Given the description of an element on the screen output the (x, y) to click on. 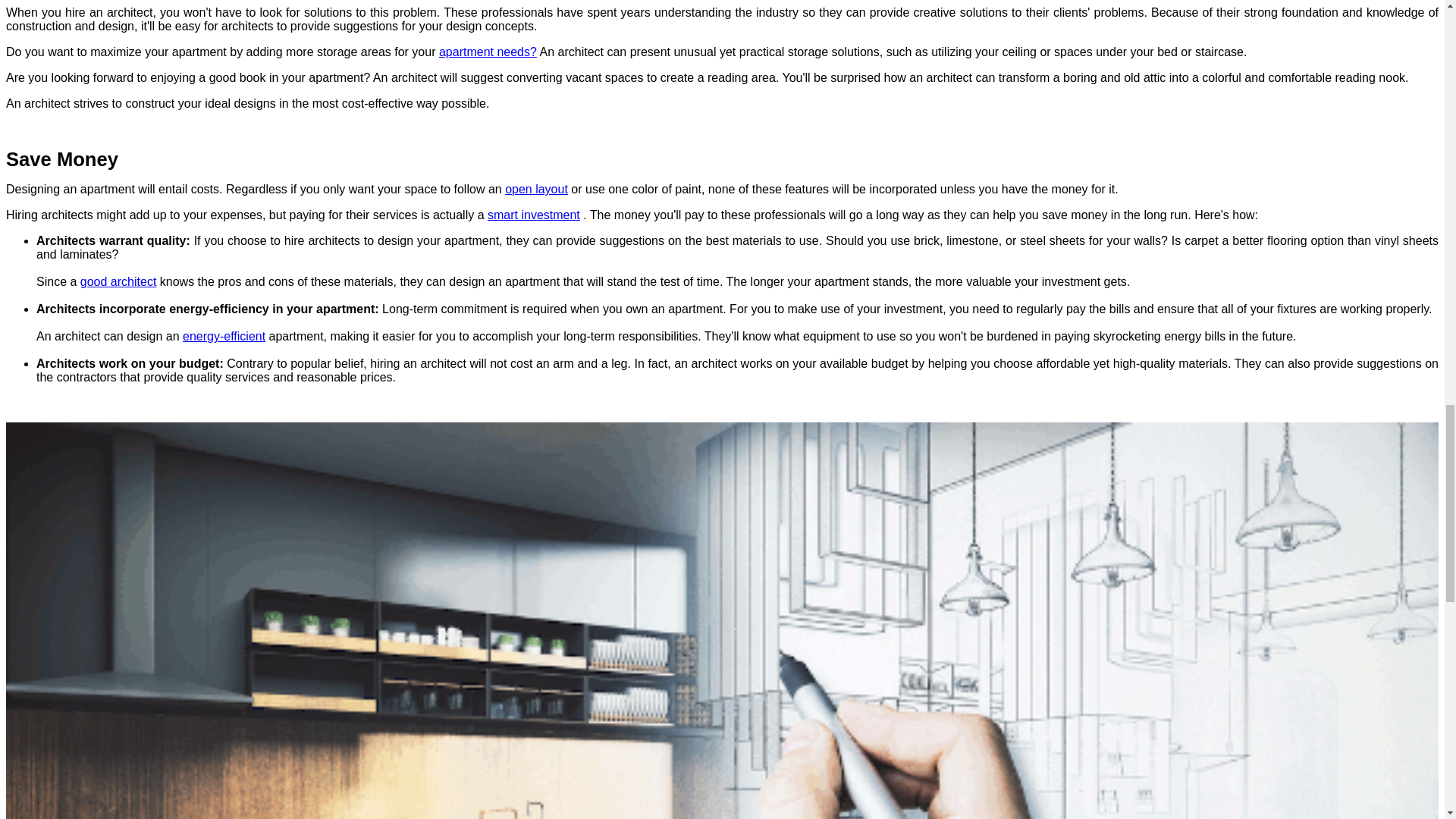
good architect (118, 281)
smart investment (533, 214)
open layout (536, 188)
energy-efficient (223, 336)
apartment needs? (488, 51)
